Given the description of an element on the screen output the (x, y) to click on. 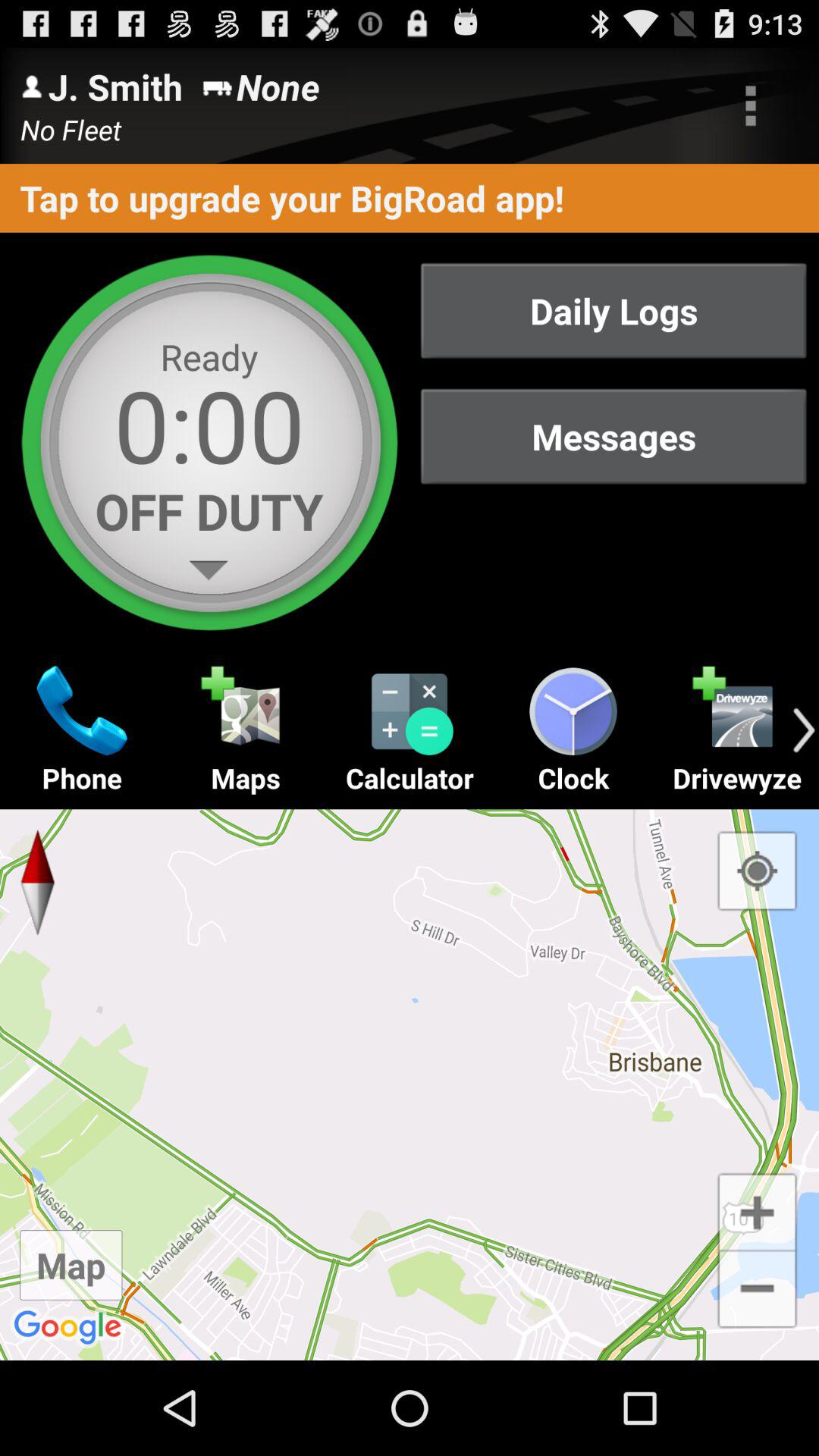
click the app at the top (409, 197)
